Given the description of an element on the screen output the (x, y) to click on. 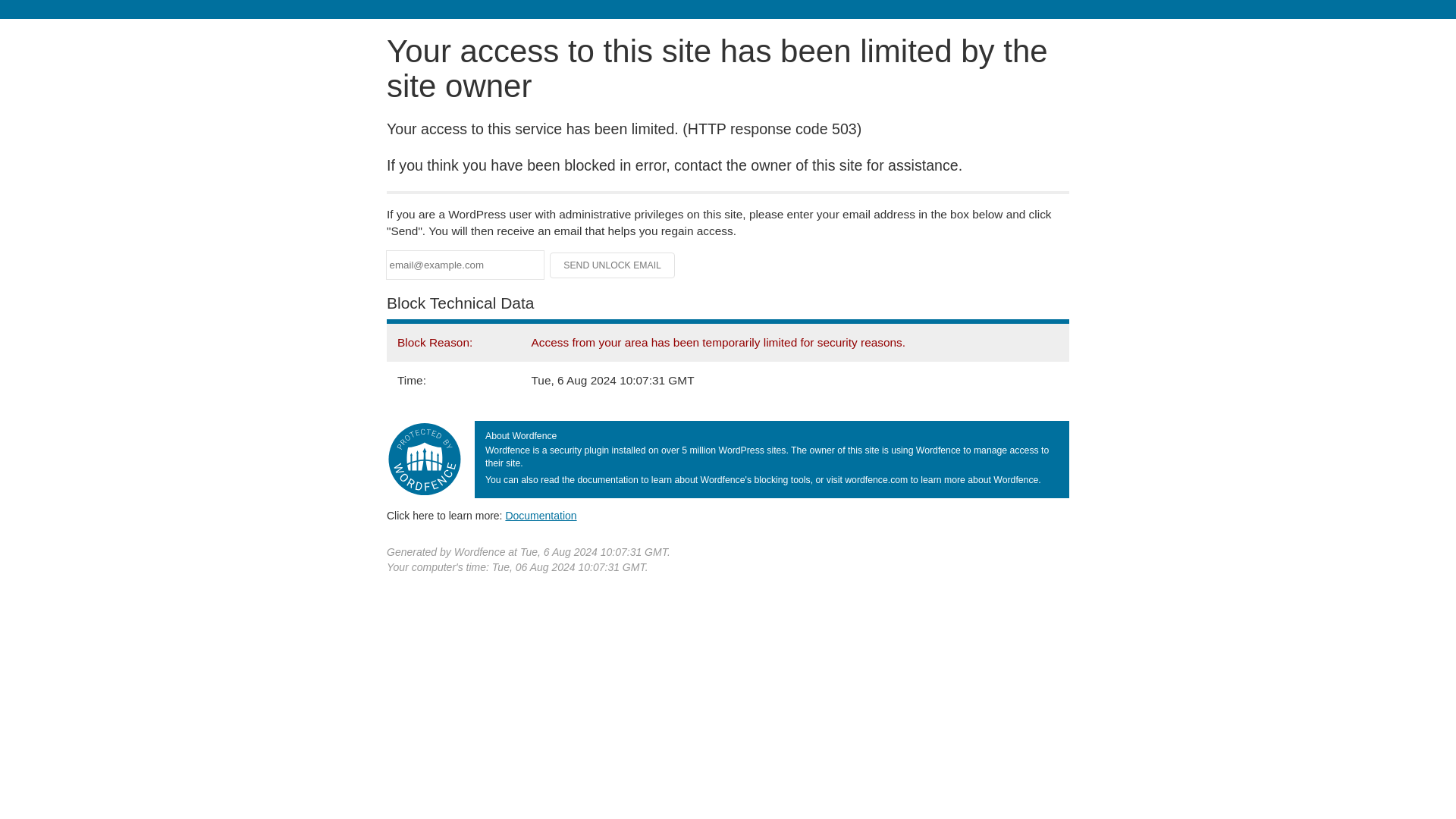
Send Unlock Email (612, 265)
Documentation (540, 515)
Send Unlock Email (612, 265)
